Given the description of an element on the screen output the (x, y) to click on. 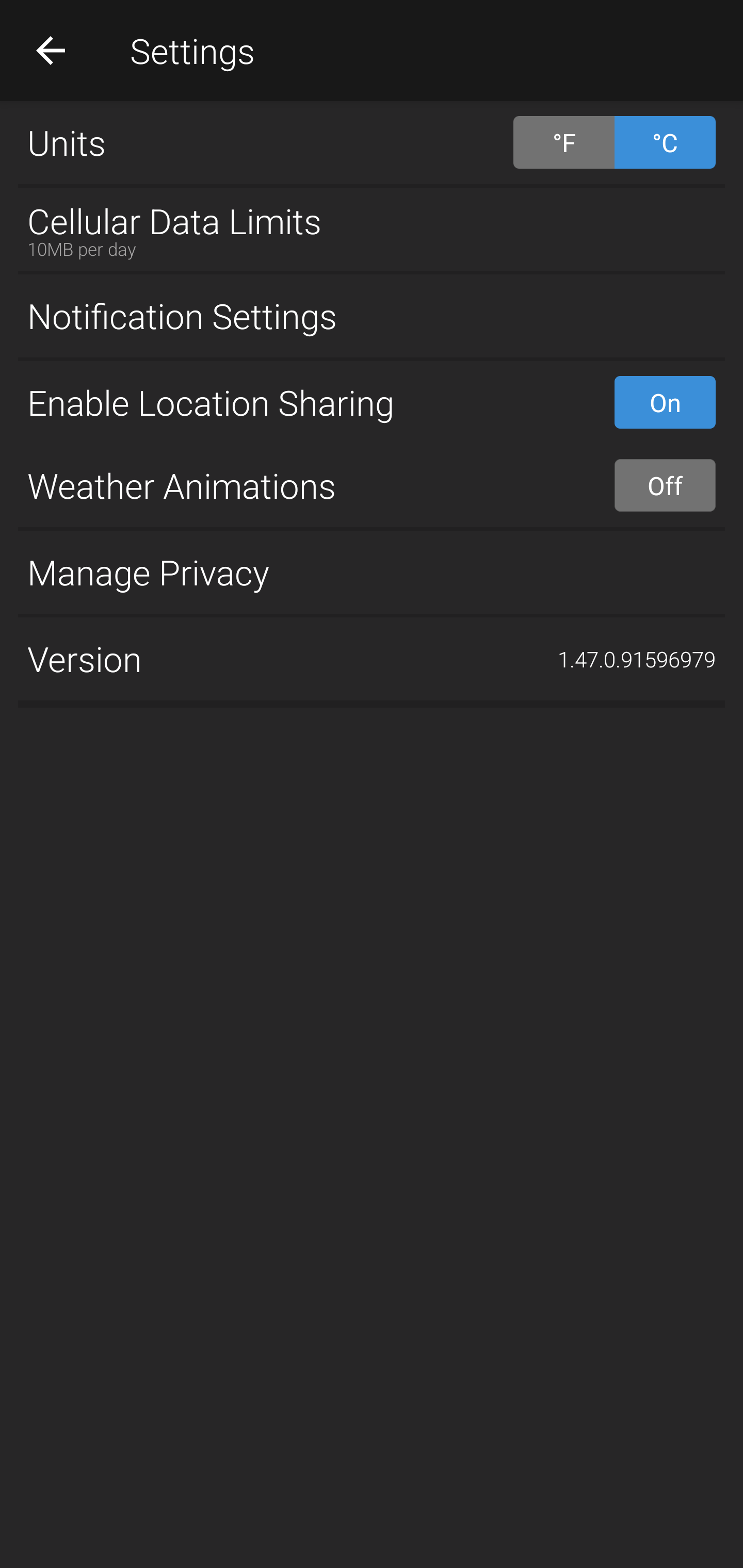
Navigate up (50, 50)
°F (563, 142)
°C (664, 142)
Cellular Data Limits 10MB per day (371, 229)
Notification Settings (371, 315)
Enable Location Sharing On (371, 401)
On (664, 402)
Weather Animations Off (371, 484)
Off (664, 485)
Manage Privacy (371, 571)
1.47.0.91596979 (636, 658)
